Given the description of an element on the screen output the (x, y) to click on. 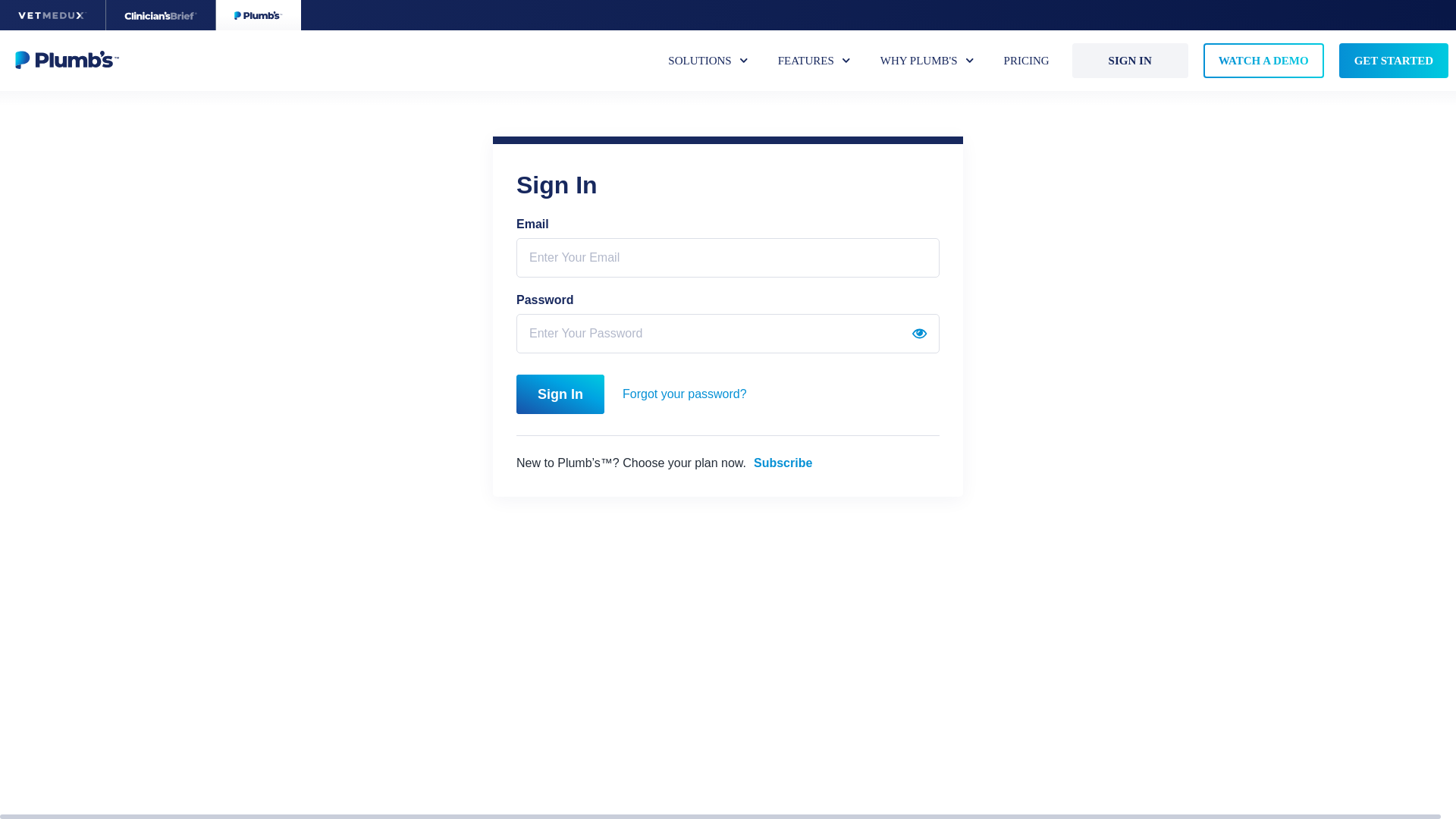
PRICING (1026, 60)
Subscribe (783, 463)
WATCH A DEMO (1263, 60)
SIGN IN (1129, 60)
GET STARTED (1393, 60)
Forgot your password? (675, 393)
